Given the description of an element on the screen output the (x, y) to click on. 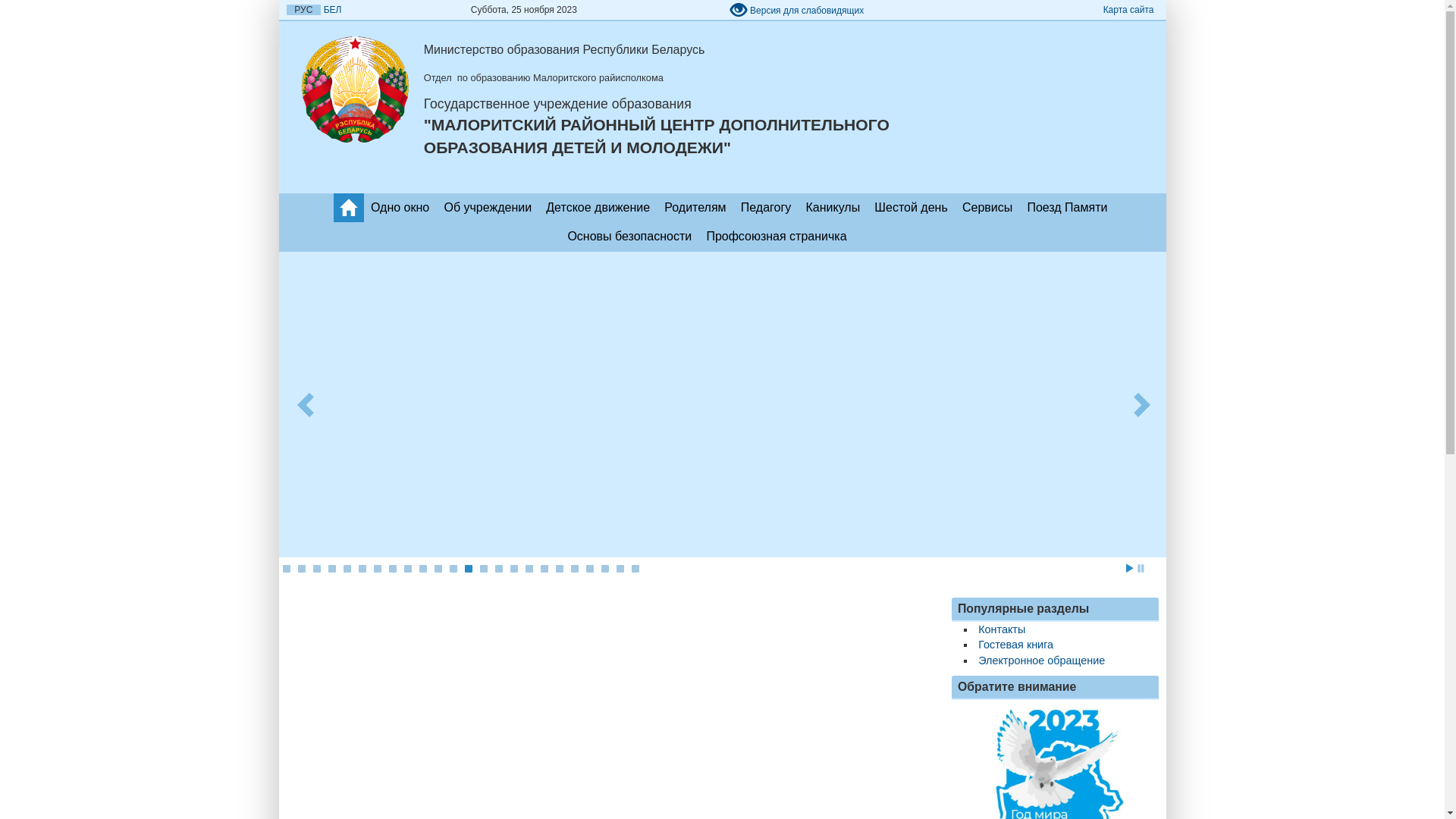
16 Element type: text (513, 568)
9 Element type: text (407, 568)
11 Element type: text (437, 568)
4 Element type: text (331, 568)
24 Element type: text (634, 568)
2 Element type: text (300, 568)
22 Element type: text (604, 568)
23 Element type: text (619, 568)
21 Element type: text (589, 568)
20 Element type: text (573, 568)
14 Element type: text (482, 568)
8 Element type: text (391, 568)
10 Element type: text (422, 568)
19 Element type: text (558, 568)
1 Element type: text (285, 568)
15 Element type: text (498, 568)
5 Element type: text (346, 568)
7 Element type: text (376, 568)
12 Element type: text (452, 568)
6 Element type: text (361, 568)
18 Element type: text (543, 568)
3 Element type: text (316, 568)
13 Element type: text (467, 568)
17 Element type: text (528, 568)
